Given the description of an element on the screen output the (x, y) to click on. 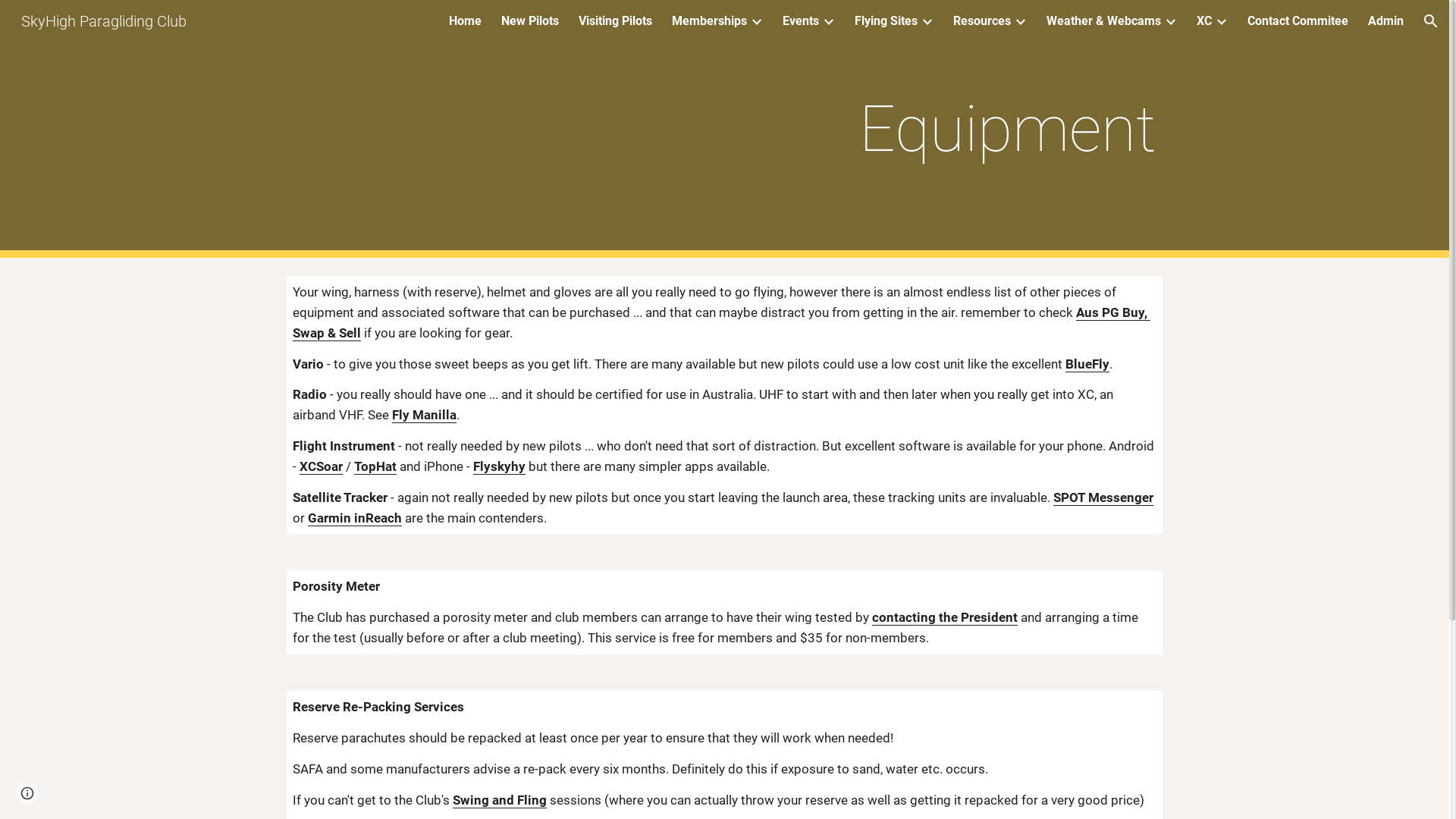
Expand/Collapse Element type: hover (827, 20)
Expand/Collapse Element type: hover (1019, 20)
SPOT Messenger Element type: text (1103, 497)
Flyskyhy Element type: text (499, 466)
Expand/Collapse Element type: hover (1169, 20)
Home Element type: text (464, 20)
Admin Element type: text (1385, 20)
Flying Sites Element type: text (885, 20)
contacting the President Element type: text (944, 617)
Expand/Collapse Element type: hover (926, 20)
Aus PG Buy, Swap & Sell Element type: text (721, 322)
Fly Manilla Element type: text (424, 415)
Events Element type: text (800, 20)
XCSoar Element type: text (320, 466)
Resources Element type: text (981, 20)
Expand/Collapse Element type: hover (1220, 20)
XC Element type: text (1203, 20)
Memberships Element type: text (708, 20)
TopHat Element type: text (375, 466)
New Pilots Element type: text (529, 20)
Swing and Fling Element type: text (499, 799)
Garmin inReach Element type: text (354, 518)
SkyHigh Paragliding Club Element type: text (103, 19)
BlueFly Element type: text (1087, 364)
Contact Commitee Element type: text (1297, 20)
Weather & Webcams Element type: text (1103, 20)
Visiting Pilots Element type: text (615, 20)
Expand/Collapse Element type: hover (755, 20)
